Given the description of an element on the screen output the (x, y) to click on. 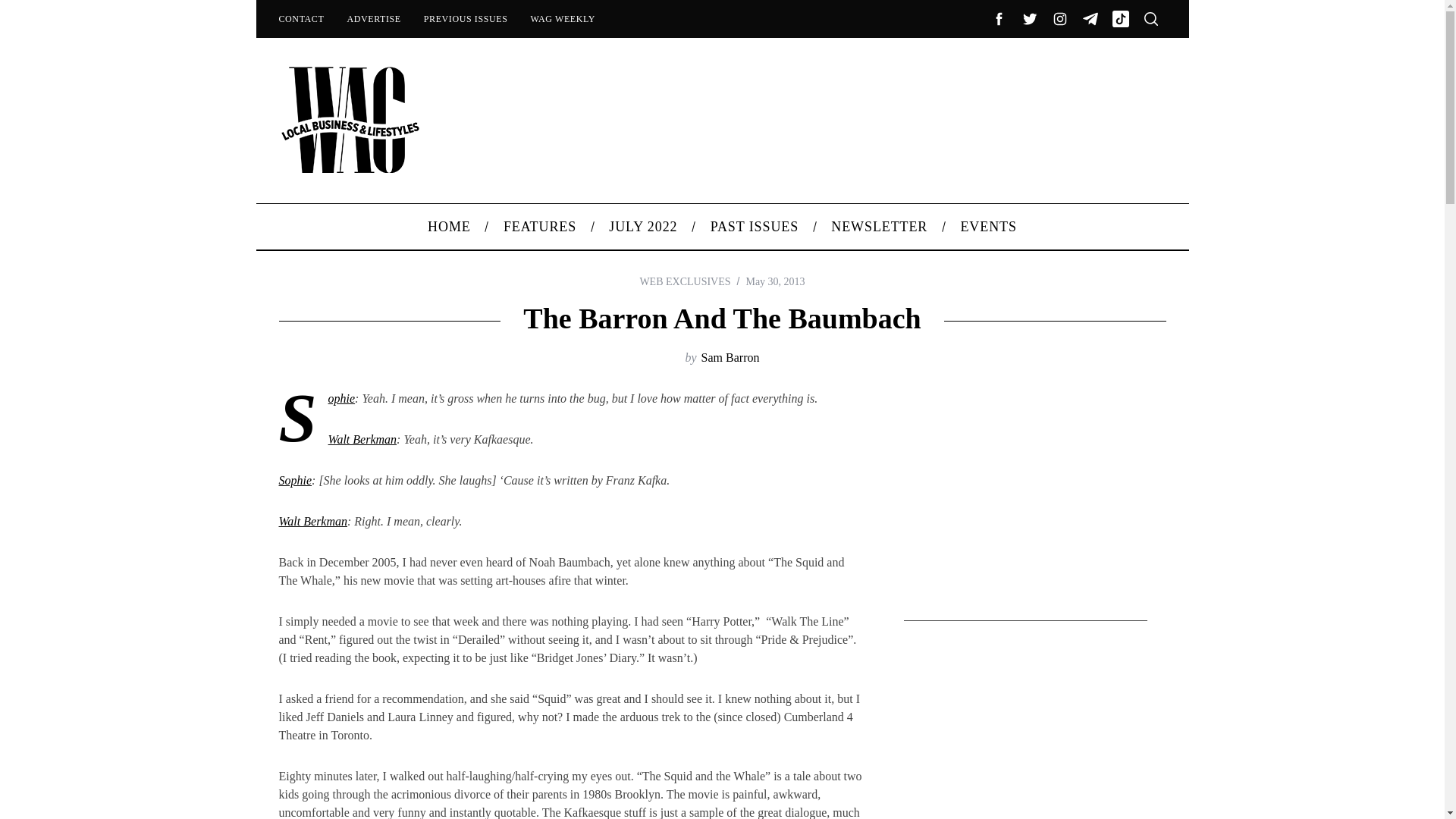
FEATURES (539, 226)
ADVERTISE (373, 18)
PAST ISSUES (754, 226)
JULY 2022 (643, 226)
CONTACT (300, 18)
WAG WEEKLY (562, 18)
HOME (449, 226)
PREVIOUS ISSUES (465, 18)
